Given the description of an element on the screen output the (x, y) to click on. 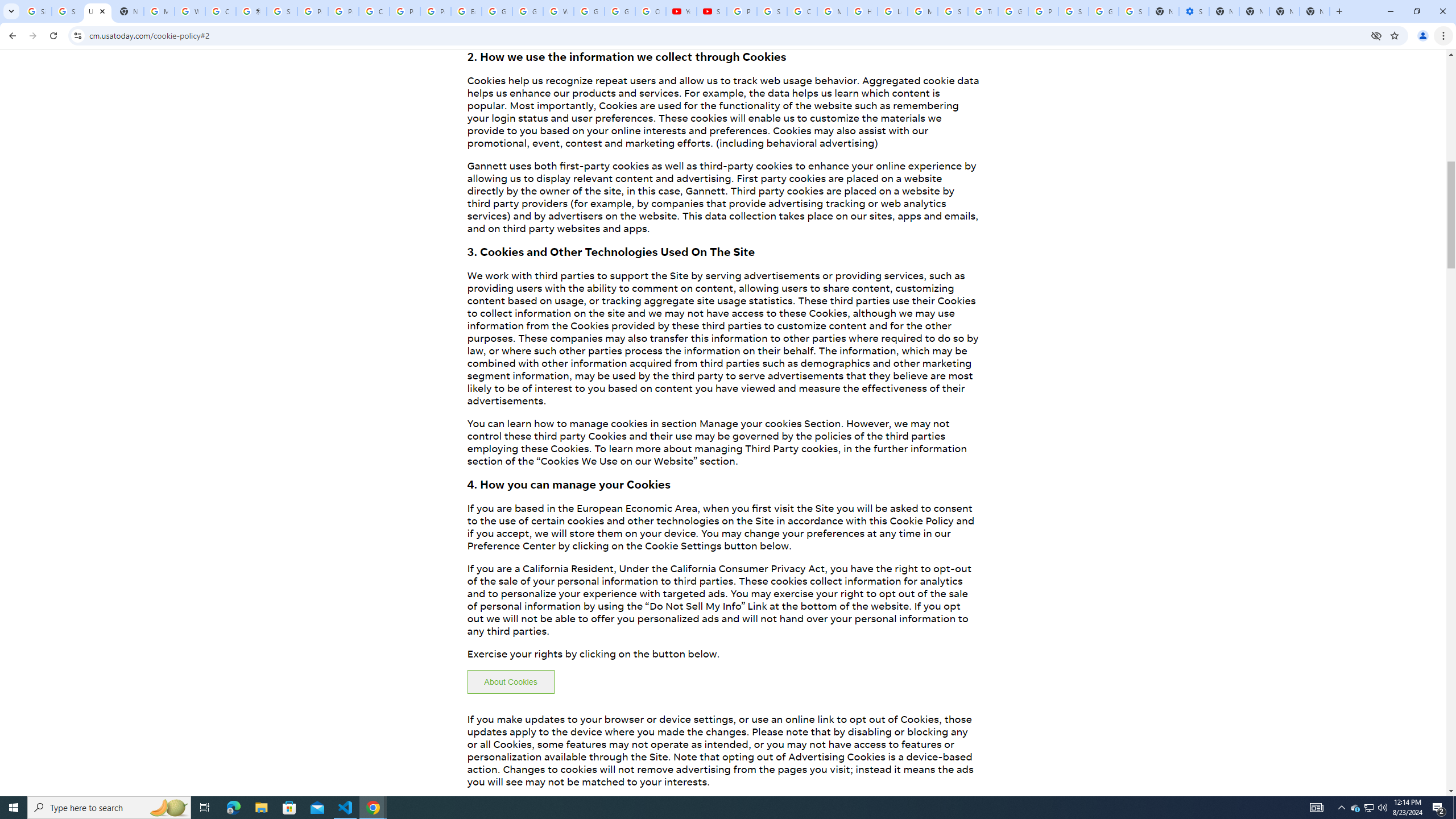
Who is my administrator? - Google Account Help (189, 11)
Google Ads - Sign in (1012, 11)
Search our Doodle Library Collection - Google Doodles (952, 11)
Sign in - Google Accounts (1133, 11)
About Cookies (510, 681)
Trusted Information and Content - Google Safety Center (982, 11)
